Given the description of an element on the screen output the (x, y) to click on. 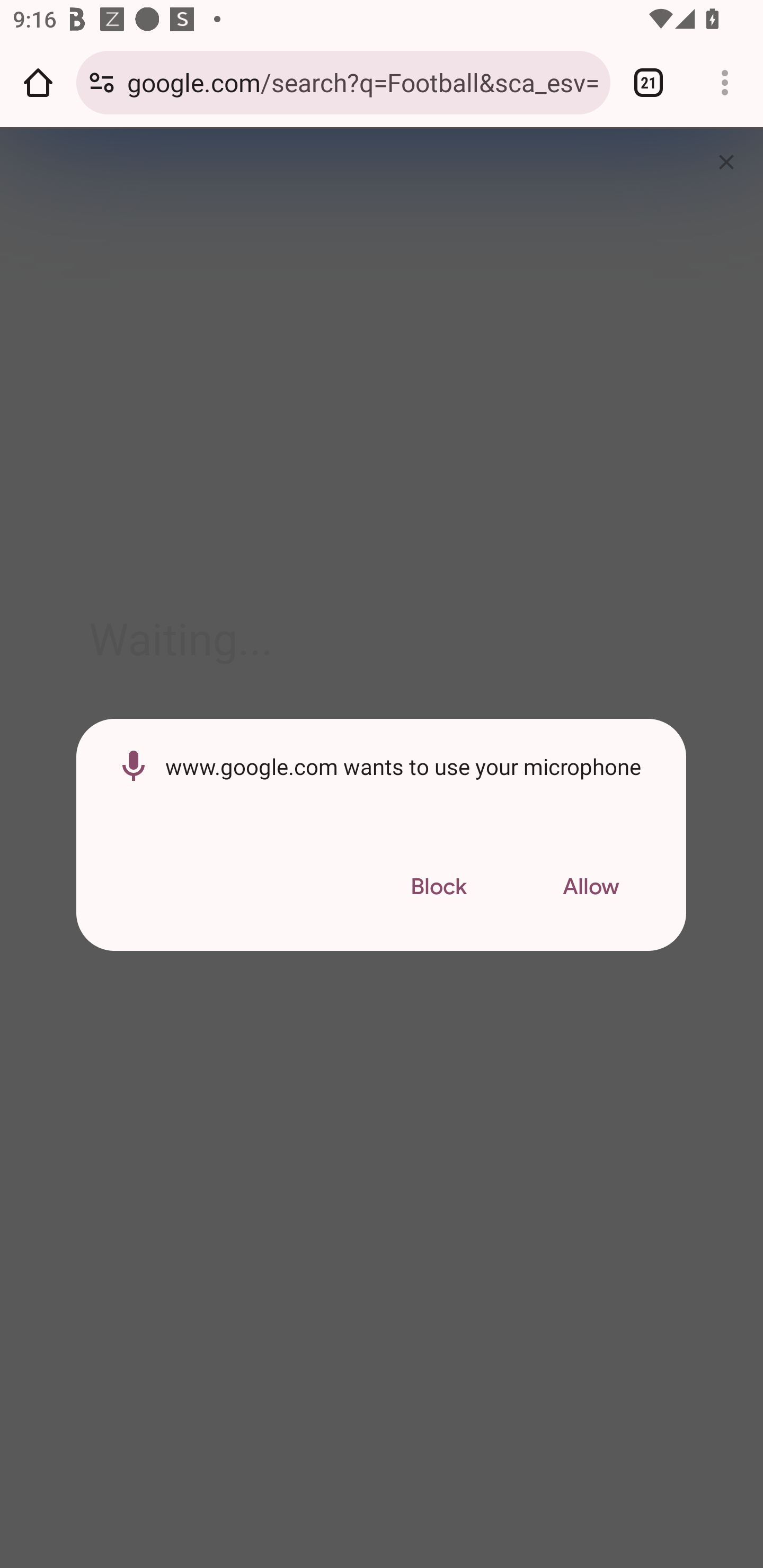
Open the home page (38, 82)
Connection is secure (101, 82)
Switch or close tabs (648, 82)
Customize and control Google Chrome (724, 82)
Block (438, 887)
Allow (590, 887)
